Given the description of an element on the screen output the (x, y) to click on. 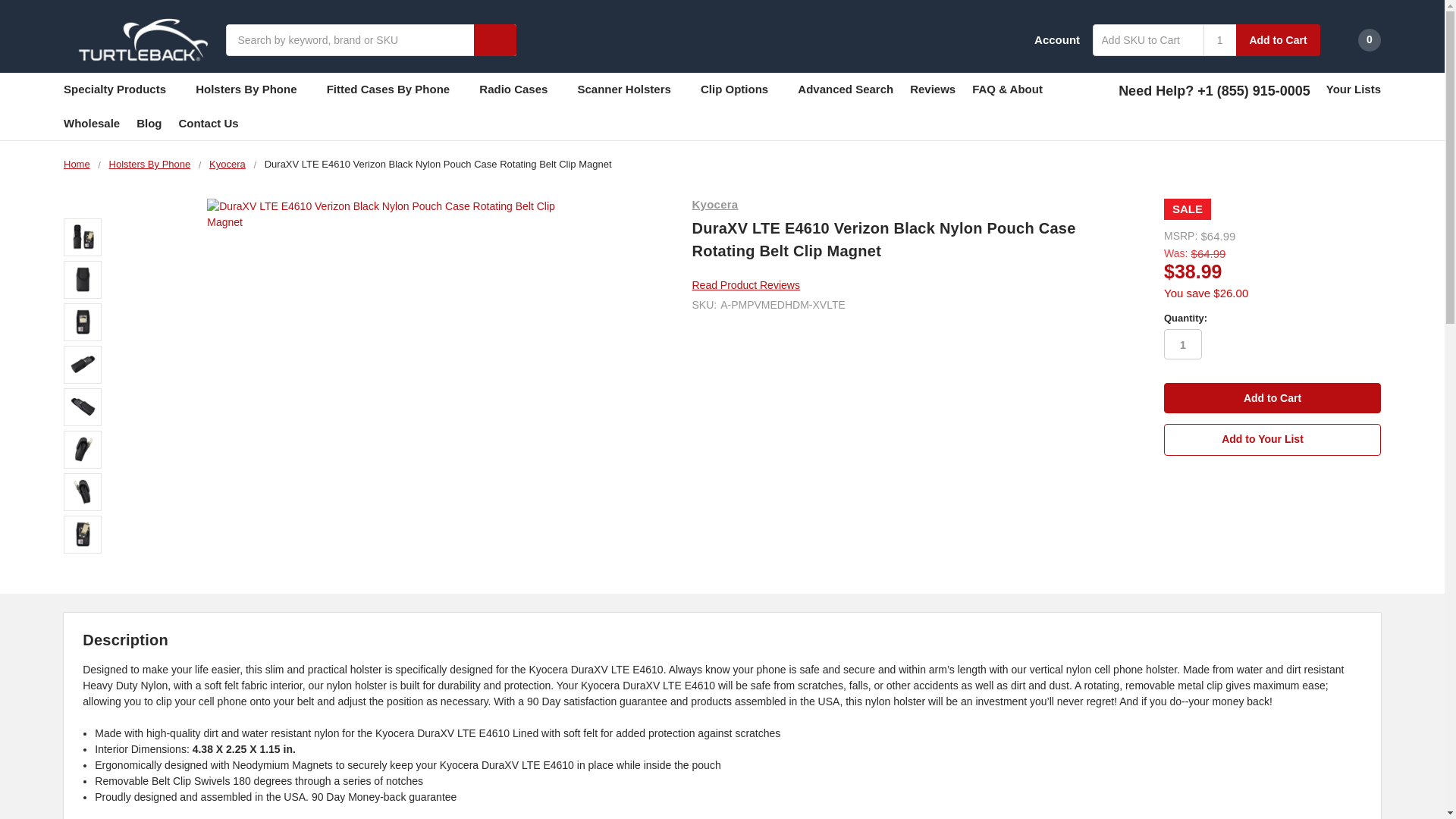
Account (1046, 39)
Turtleback (139, 39)
1 (1220, 40)
Add to Cart (1271, 398)
